Given the description of an element on the screen output the (x, y) to click on. 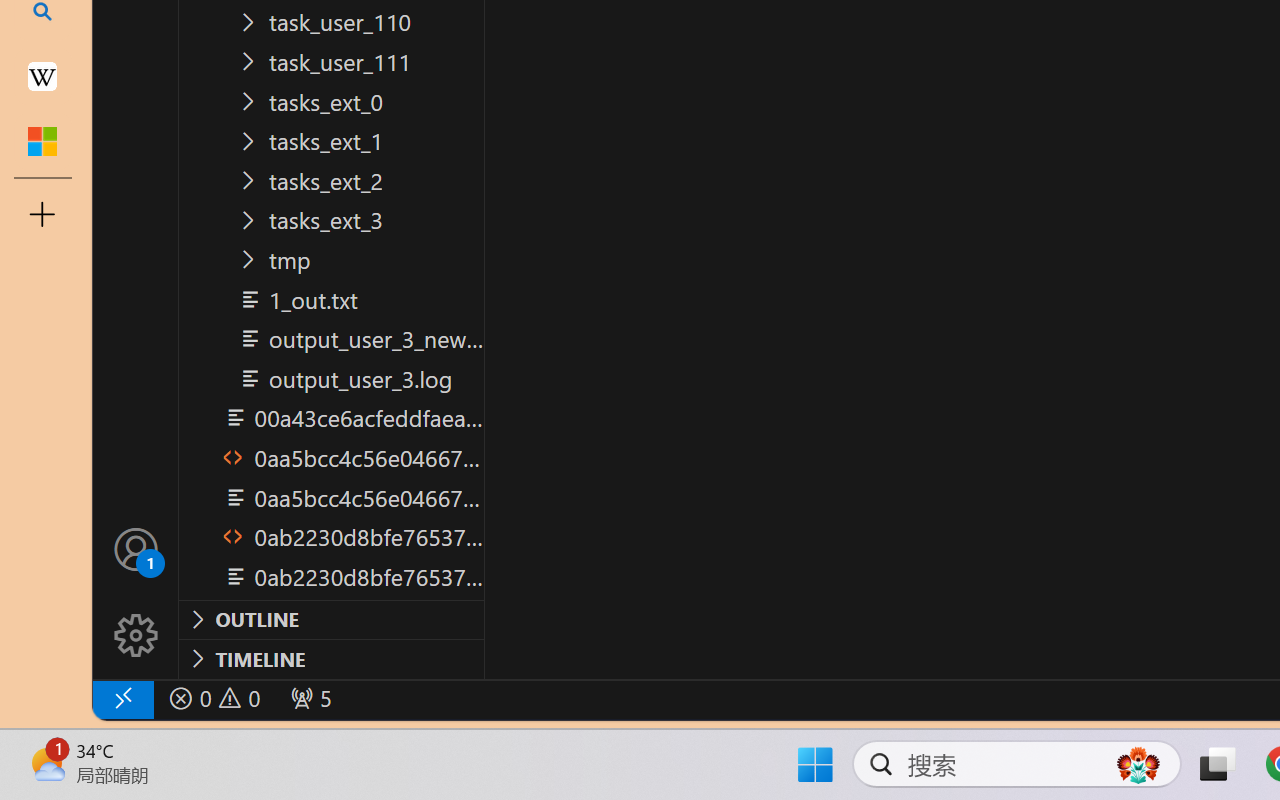
Outline Section (331, 619)
Timeline Section (331, 658)
remote (122, 698)
Accounts - Sign in requested (135, 548)
Forwarded Ports: 36301, 47065, 38781, 45817, 50331 (308, 698)
Earth - Wikipedia (42, 75)
No Problems (212, 698)
Manage (135, 591)
Manage (135, 635)
